Given the description of an element on the screen output the (x, y) to click on. 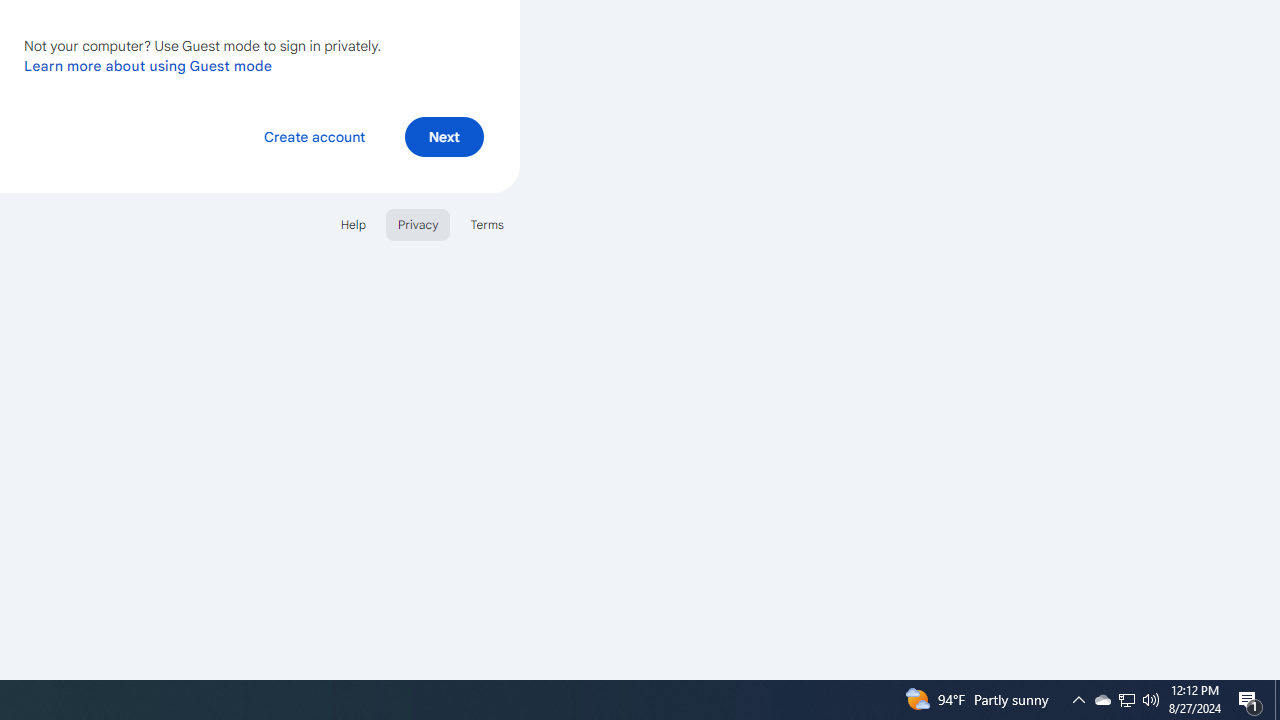
Learn more about using Guest mode (148, 65)
Create account (314, 135)
